Given the description of an element on the screen output the (x, y) to click on. 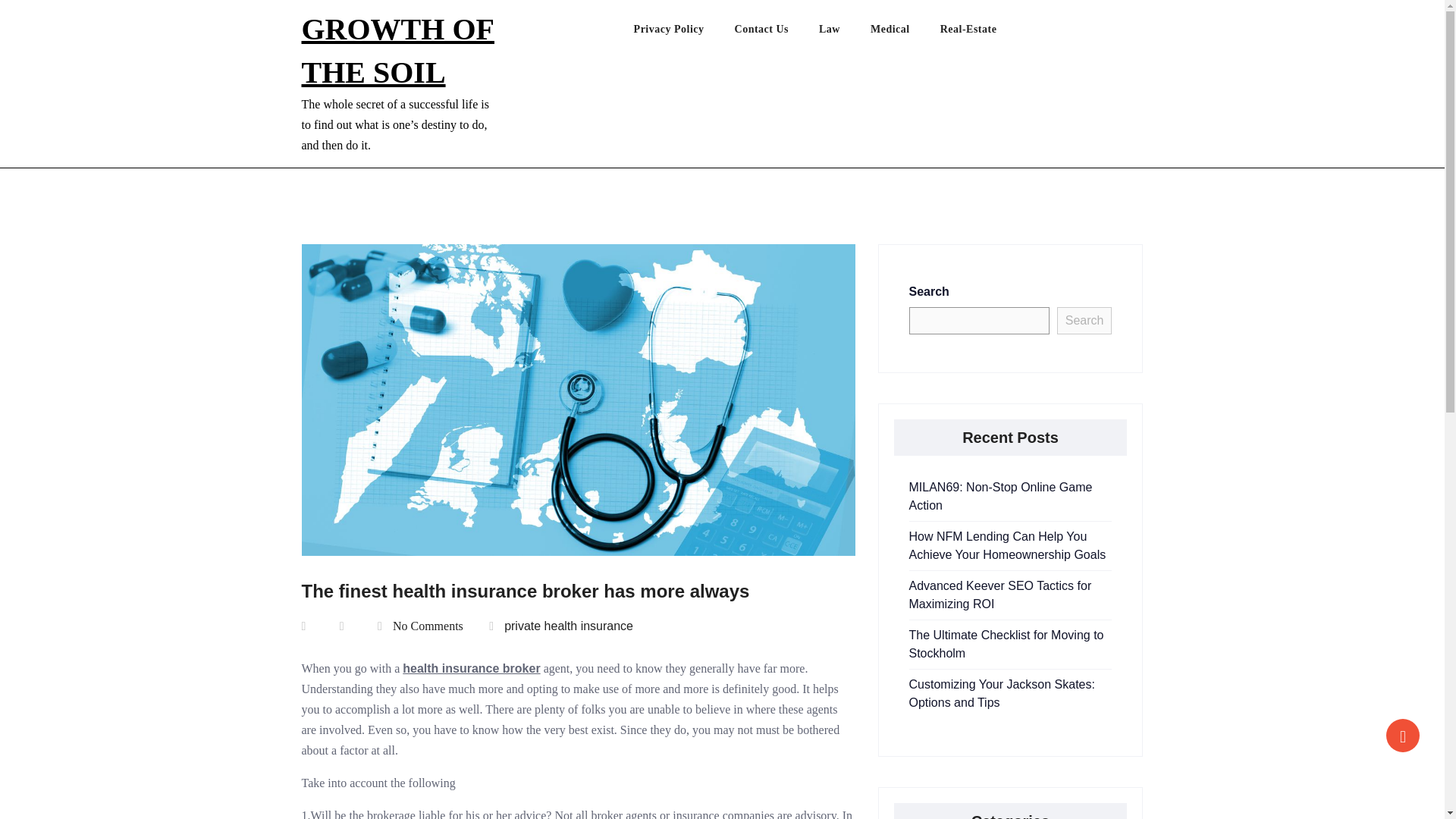
Advanced Keever SEO Tactics for Maximizing ROI (999, 594)
Privacy Policy (684, 32)
private health insurance (568, 625)
The Ultimate Checklist for Moving to Stockholm (1005, 644)
Law (844, 32)
MILAN69: Non-Stop Online Game Action (1000, 495)
Contact Us (777, 32)
Search (1084, 320)
Customizing Your Jackson Skates: Options and Tips (1001, 693)
health insurance broker (471, 667)
GROWTH OF THE SOIL (398, 50)
Real-Estate (983, 32)
Medical (905, 32)
